Given the description of an element on the screen output the (x, y) to click on. 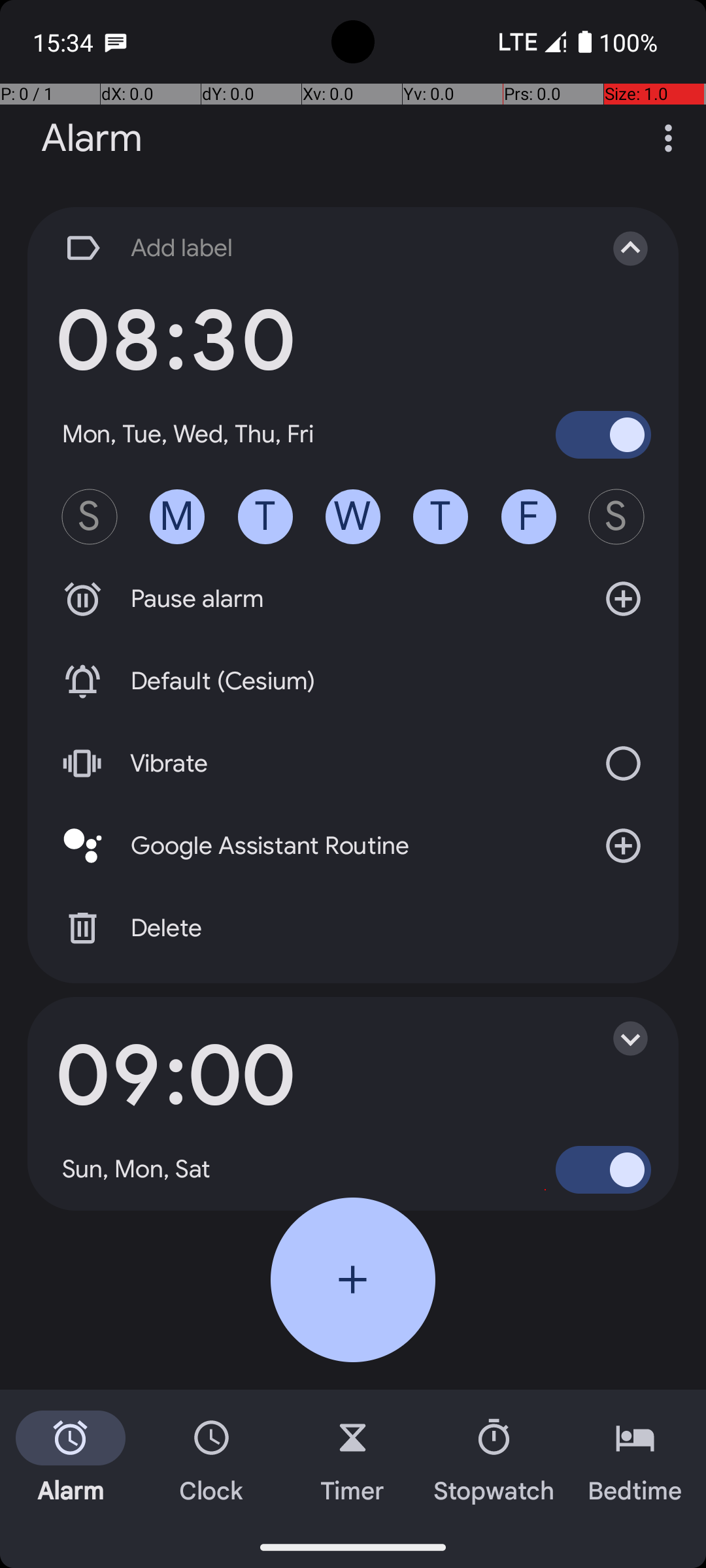
Add label Element type: android.widget.TextView (318, 248)
Collapse alarm Element type: android.widget.ImageButton (616, 248)
Pause alarm Element type: android.widget.TextView (352, 598)
Google Assistant Routine Element type: android.widget.TextView (352, 845)
Sun, Mon, Sat Element type: android.widget.TextView (136, 1169)
